Given the description of an element on the screen output the (x, y) to click on. 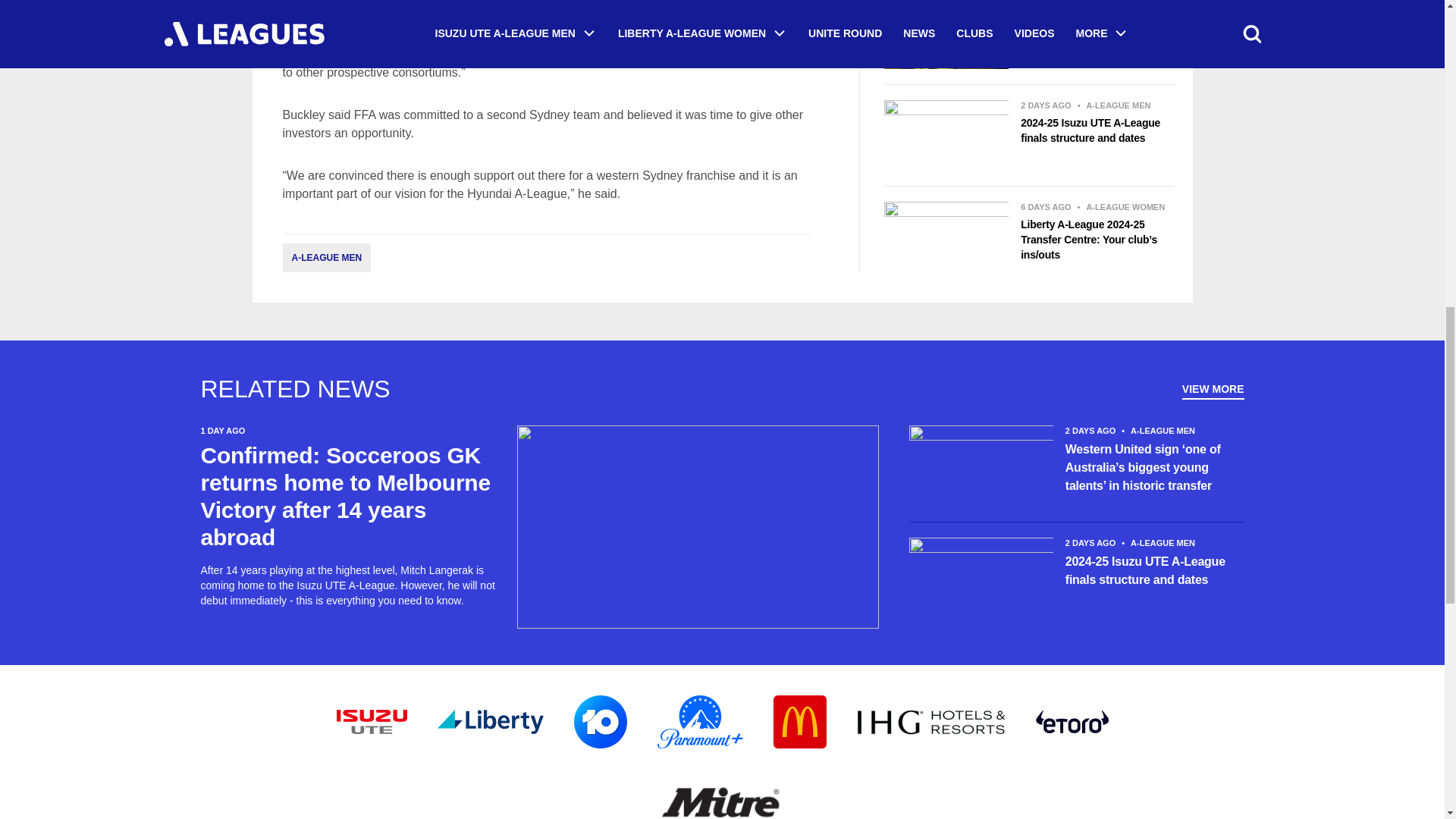
Paramount (699, 721)
Channel 10 (599, 721)
eToro (1071, 721)
Isuzu UTE (371, 721)
McDonalds (800, 721)
Liberty (489, 721)
IHG (931, 721)
Mitre (722, 798)
